Given the description of an element on the screen output the (x, y) to click on. 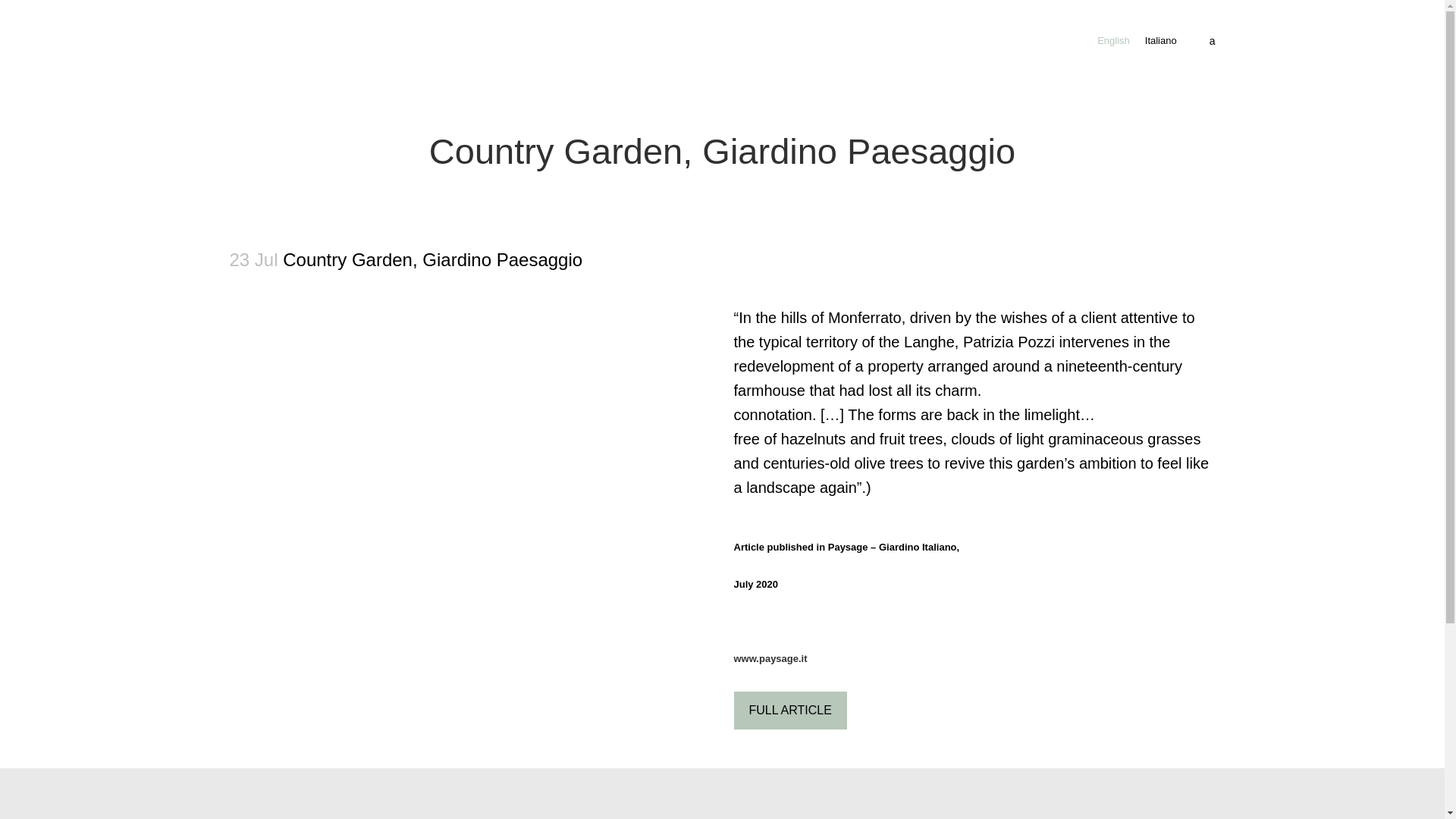
FULL ARTICLE (790, 710)
www.paysage.it (770, 658)
English (1113, 40)
Italiano (1161, 40)
